Given the description of an element on the screen output the (x, y) to click on. 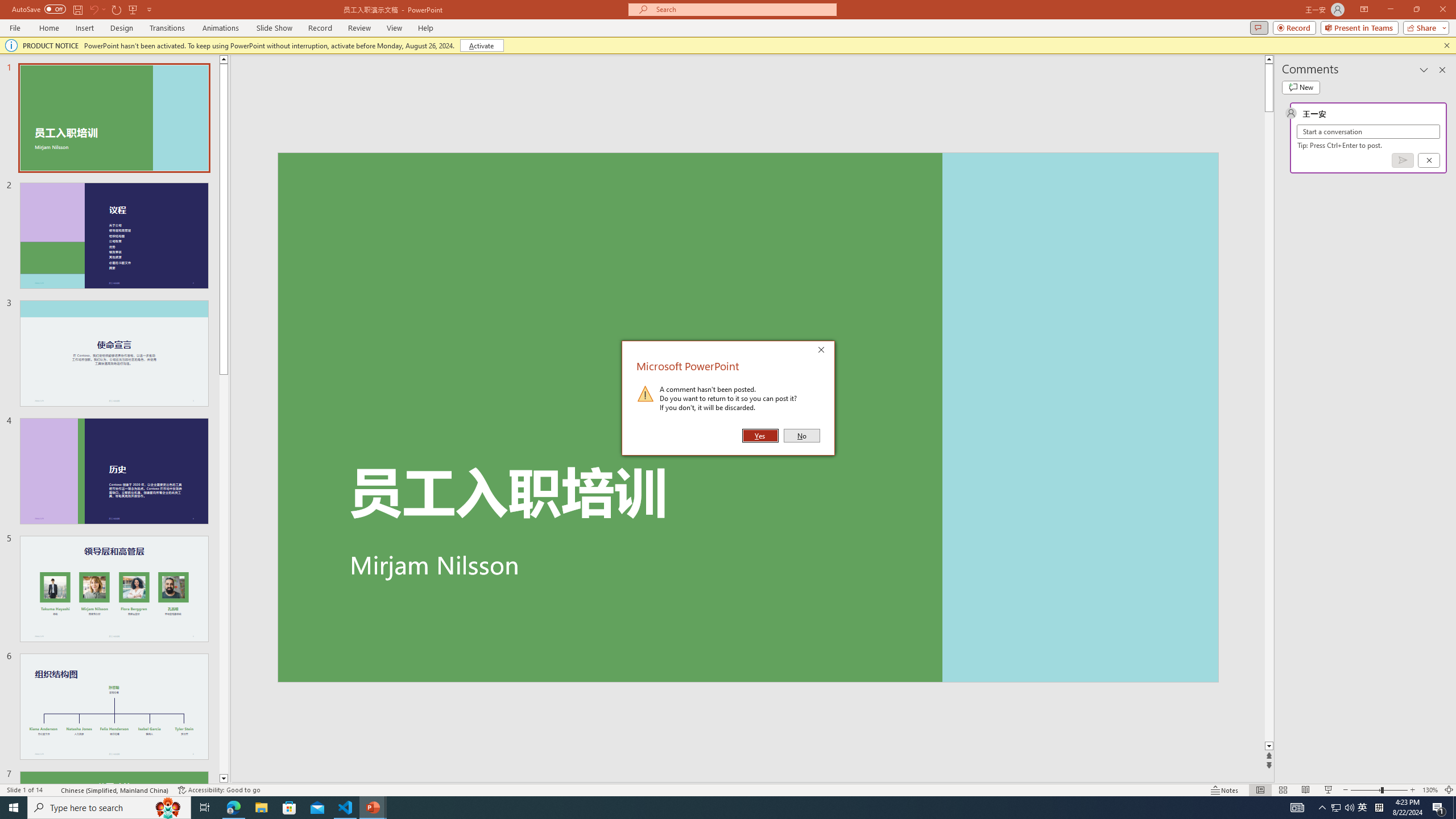
Warning Icon (645, 393)
